Given the description of an element on the screen output the (x, y) to click on. 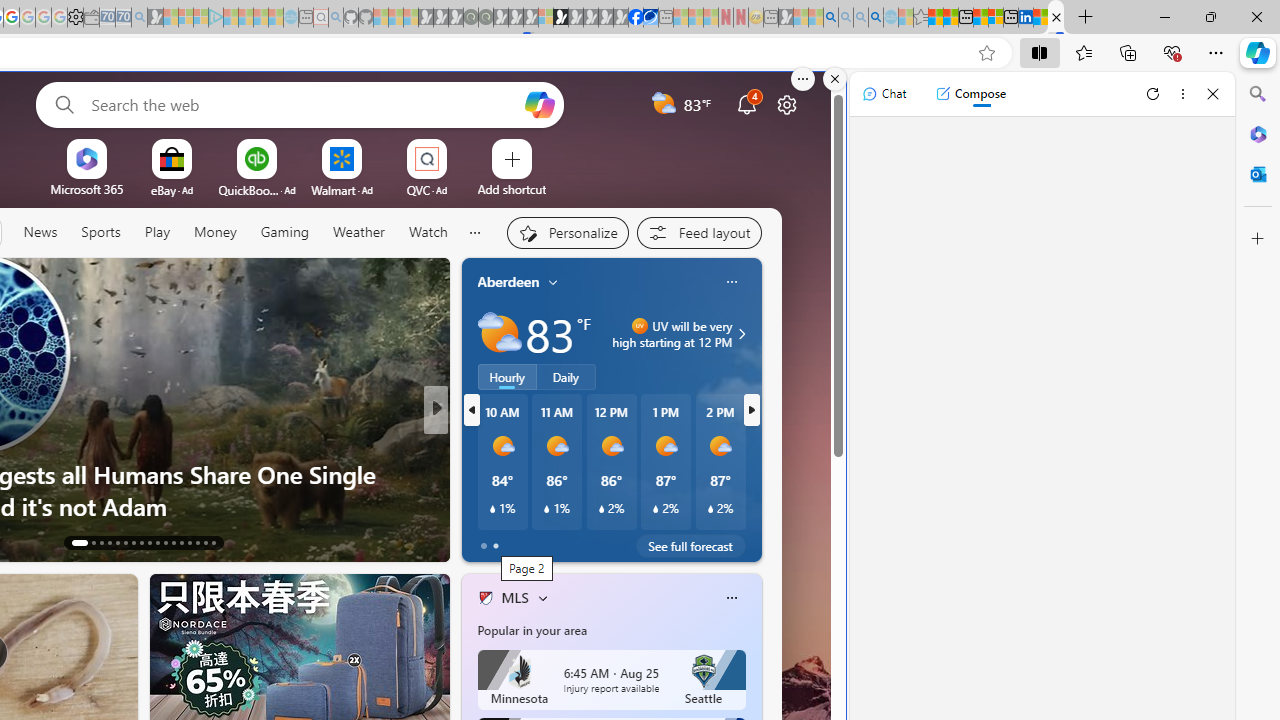
View comments 18 Comment (574, 541)
Gaming (285, 232)
Class: weather-current-precipitation-glyph (710, 508)
View comments 10 Comment (582, 541)
My location (553, 281)
AutomationID: tab-16 (108, 542)
AutomationID: tab-21 (148, 542)
